Given the description of an element on the screen output the (x, y) to click on. 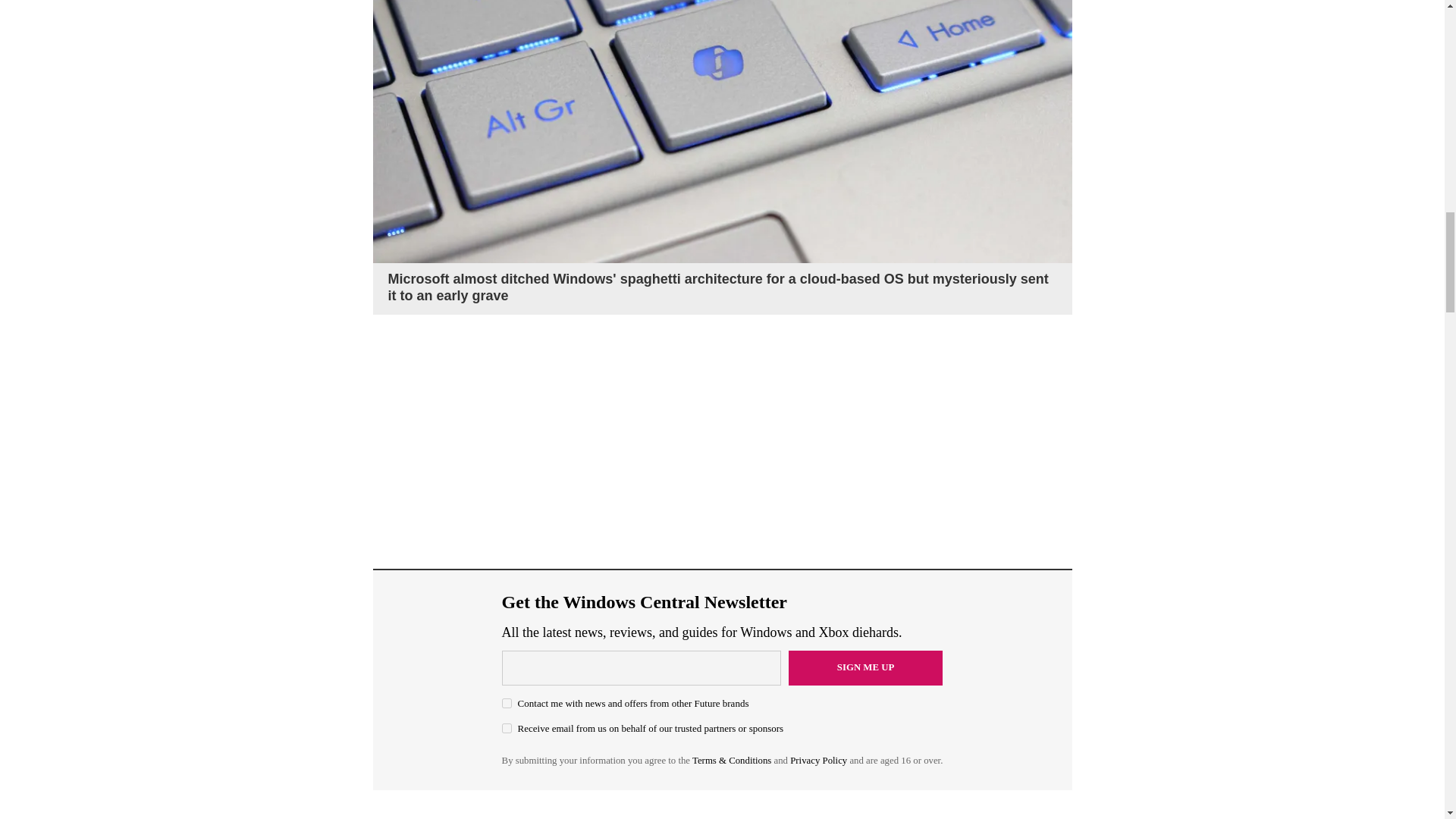
on (507, 728)
on (507, 703)
Sign me up (866, 667)
